Given the description of an element on the screen output the (x, y) to click on. 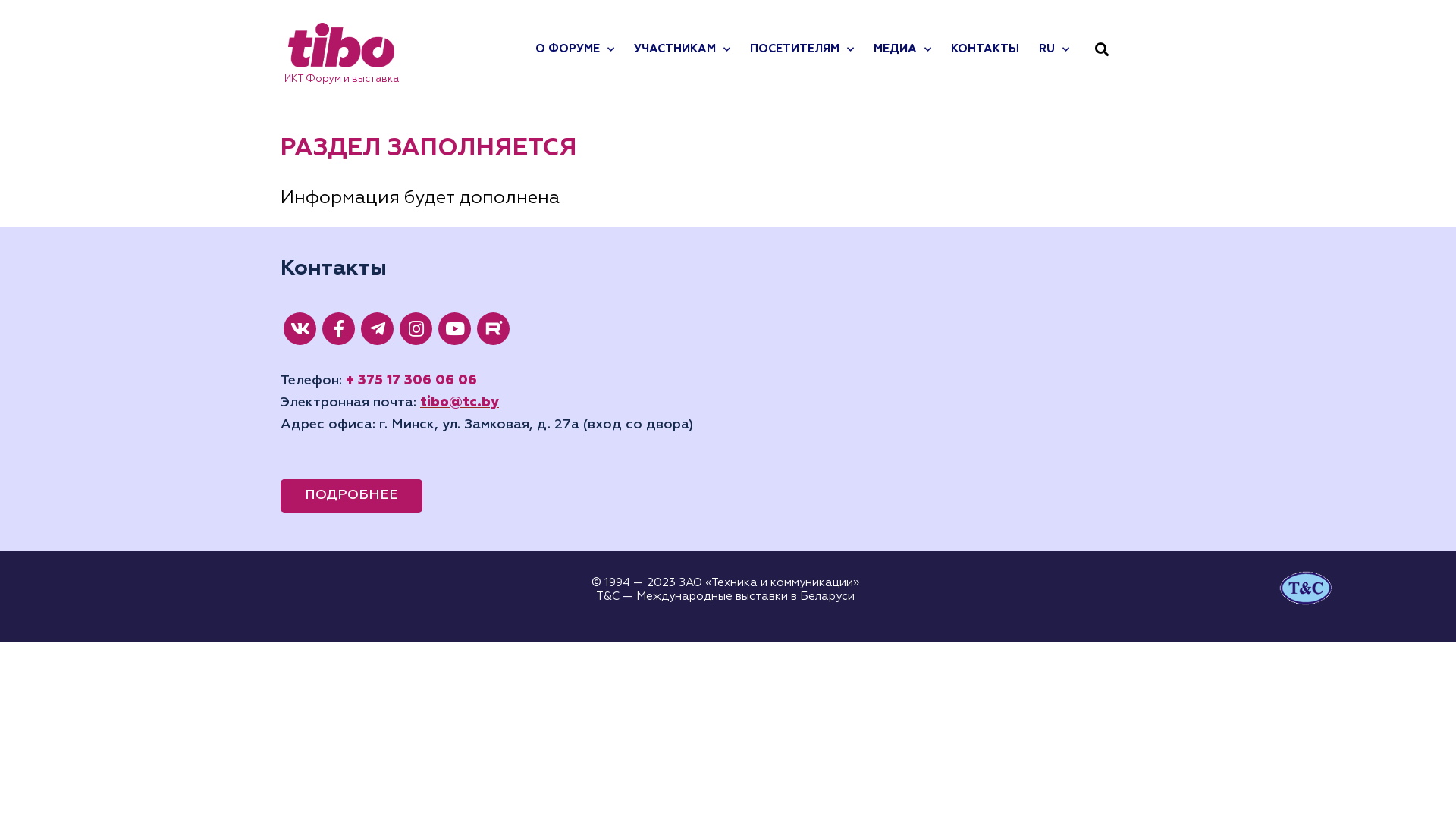
tibo@tc.by Element type: text (459, 402)
+ 375 17 306 06 06 Element type: text (410, 380)
RU Element type: text (1054, 48)
